Given the description of an element on the screen output the (x, y) to click on. 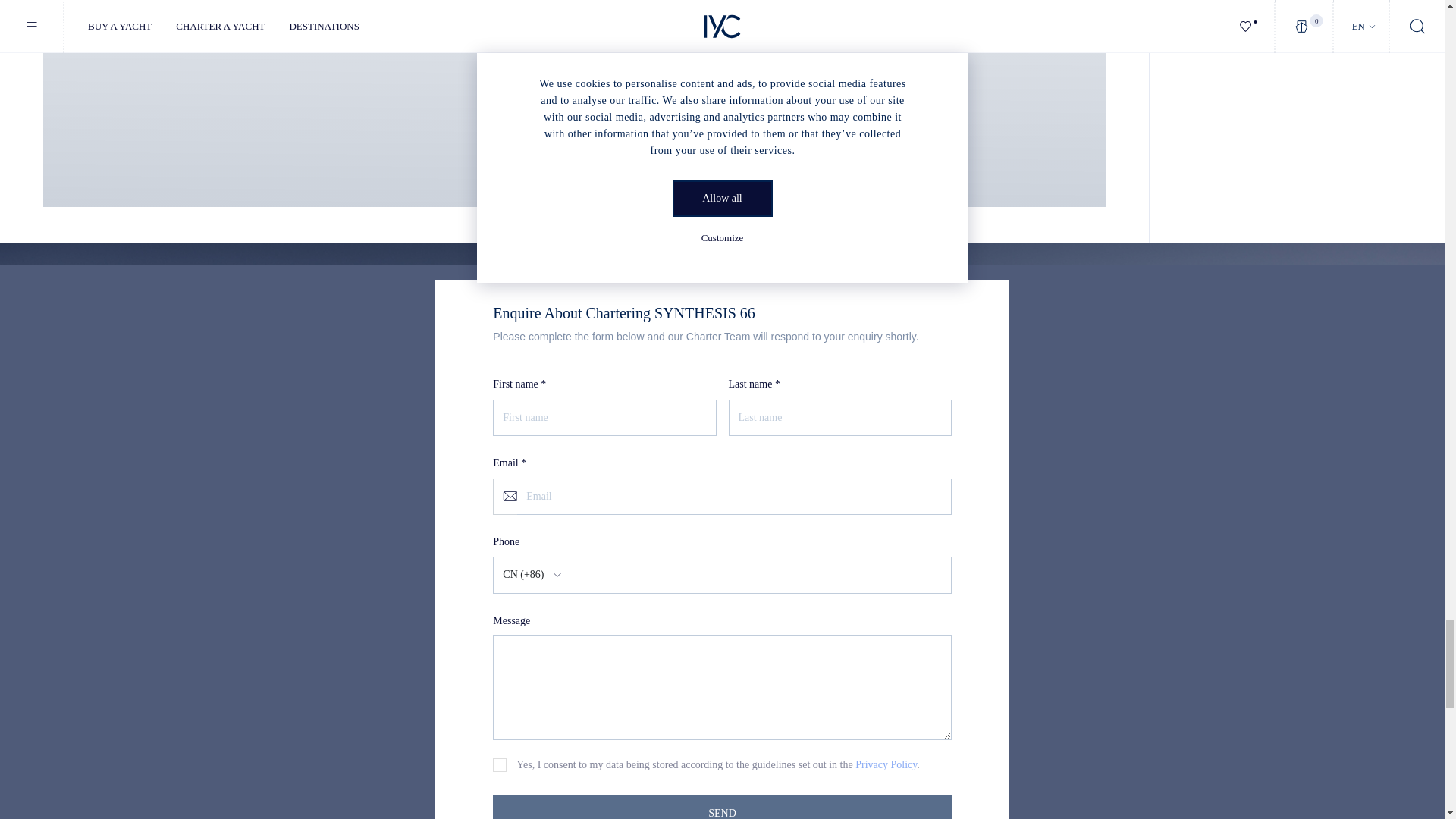
0 (499, 765)
